Given the description of an element on the screen output the (x, y) to click on. 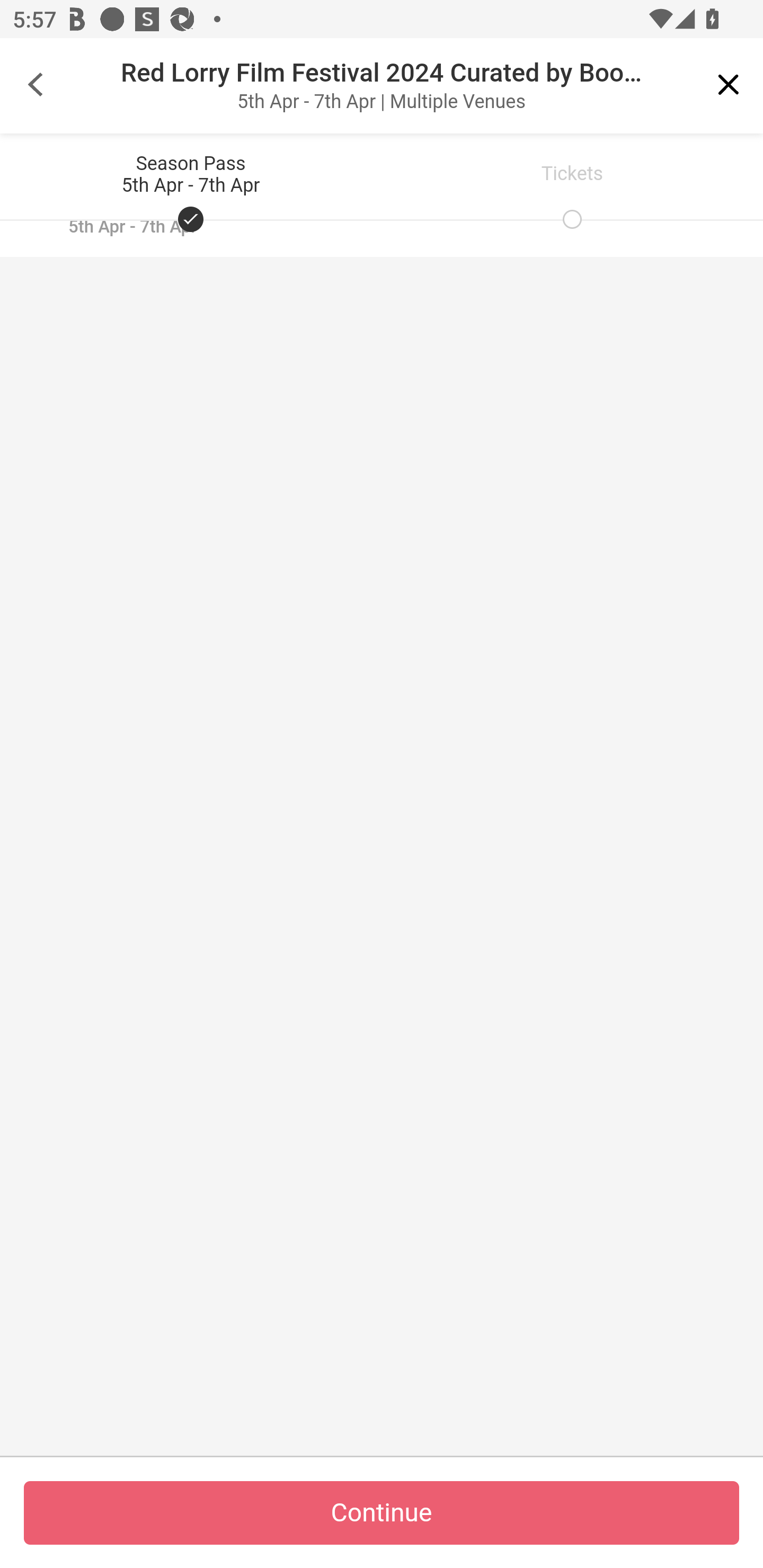
Season Pass 5th Apr - 7th Apr (190, 176)
Tickets (572, 176)
Continue (381, 1512)
